Given the description of an element on the screen output the (x, y) to click on. 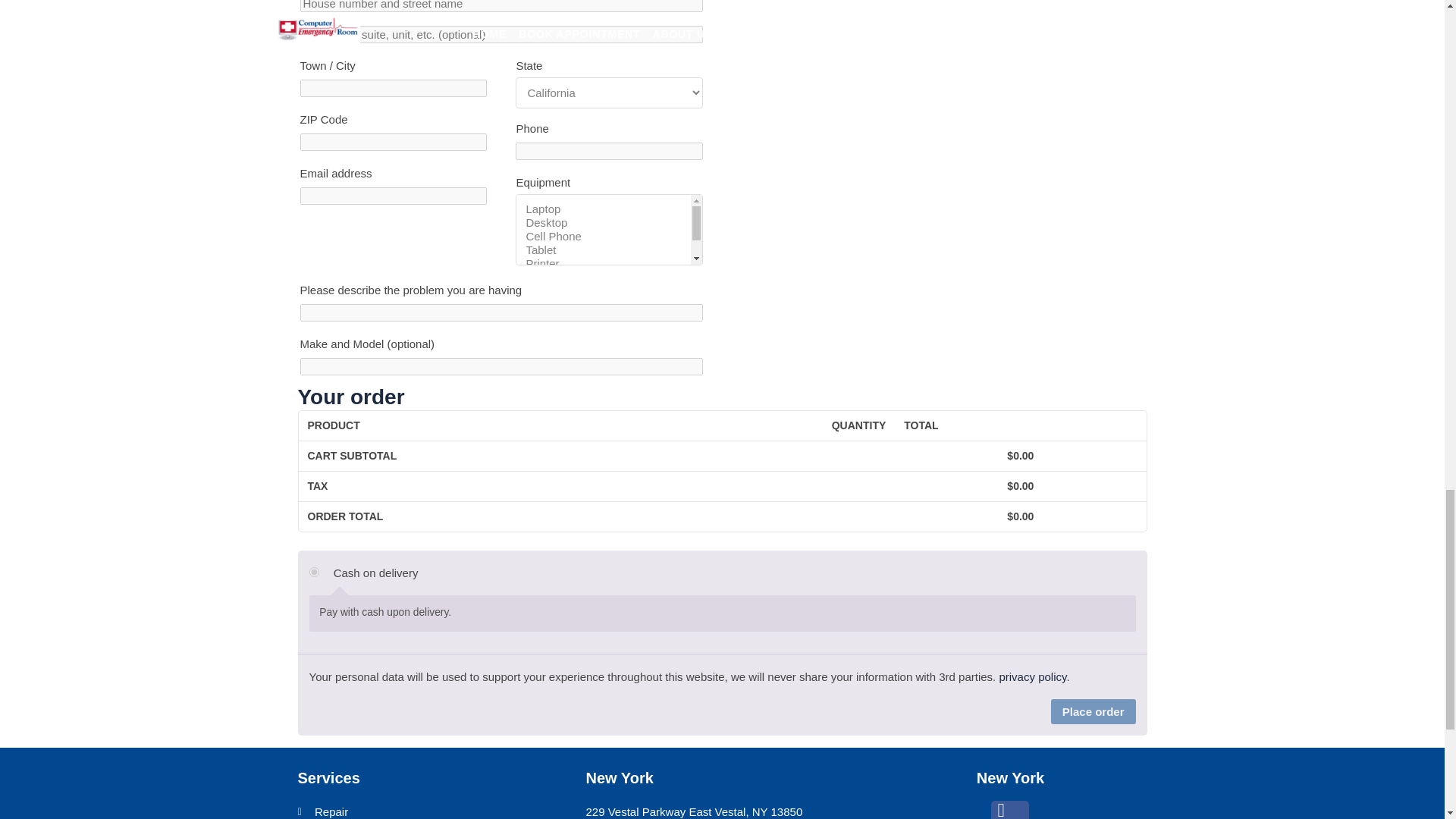
privacy policy (1031, 676)
New York (618, 777)
cod (313, 572)
New York (1009, 777)
Place order (1093, 711)
